Given the description of an element on the screen output the (x, y) to click on. 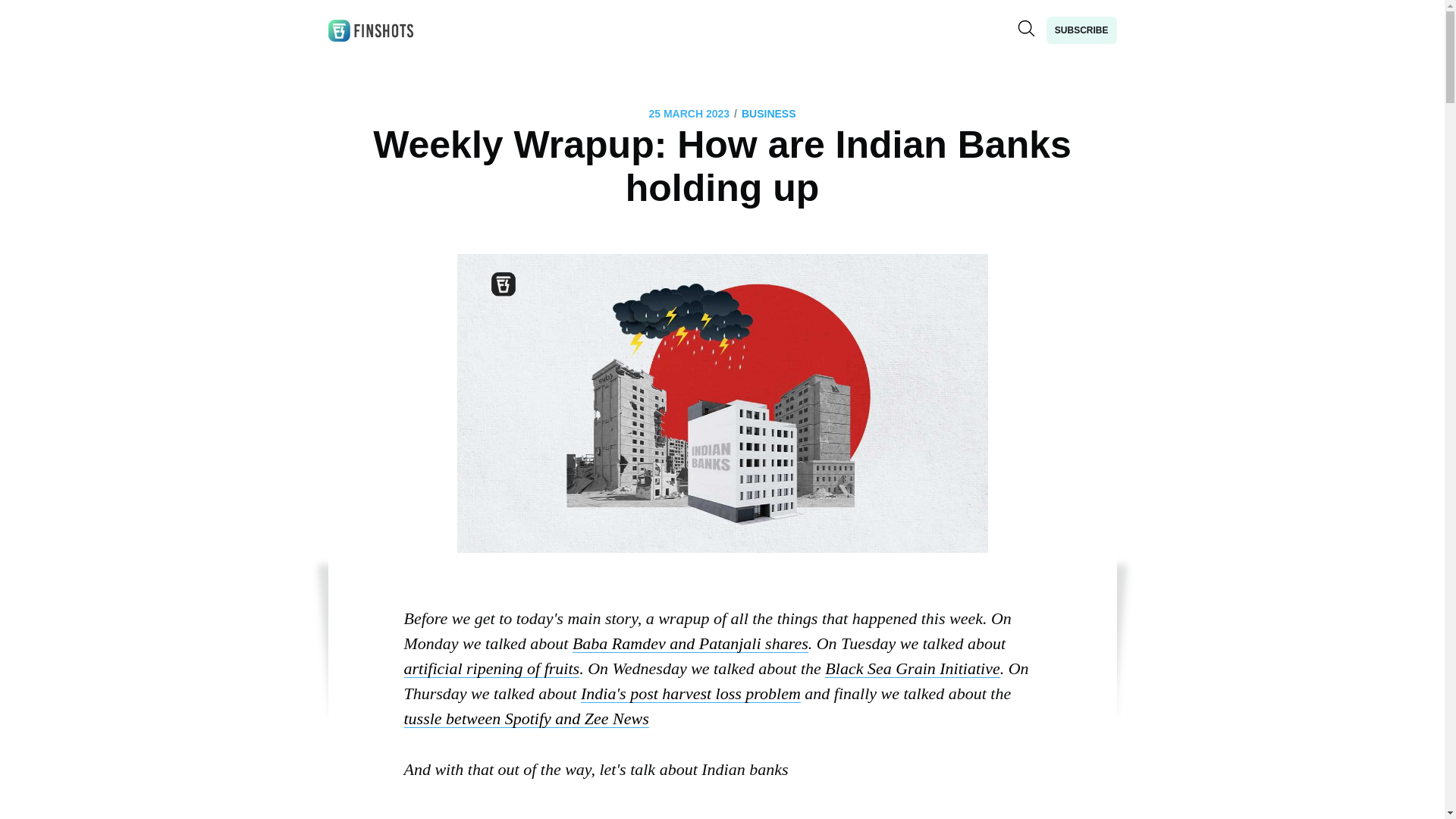
India's post harvest loss problem (690, 692)
BUSINESS (768, 113)
SUBSCRIBE (1081, 30)
artificial ripening of fruits (491, 668)
Black Sea Grain Initiative (911, 668)
tussle between Spotify and Zee News (525, 718)
Baba Ramdev and Patanjali shares (690, 642)
